Given the description of an element on the screen output the (x, y) to click on. 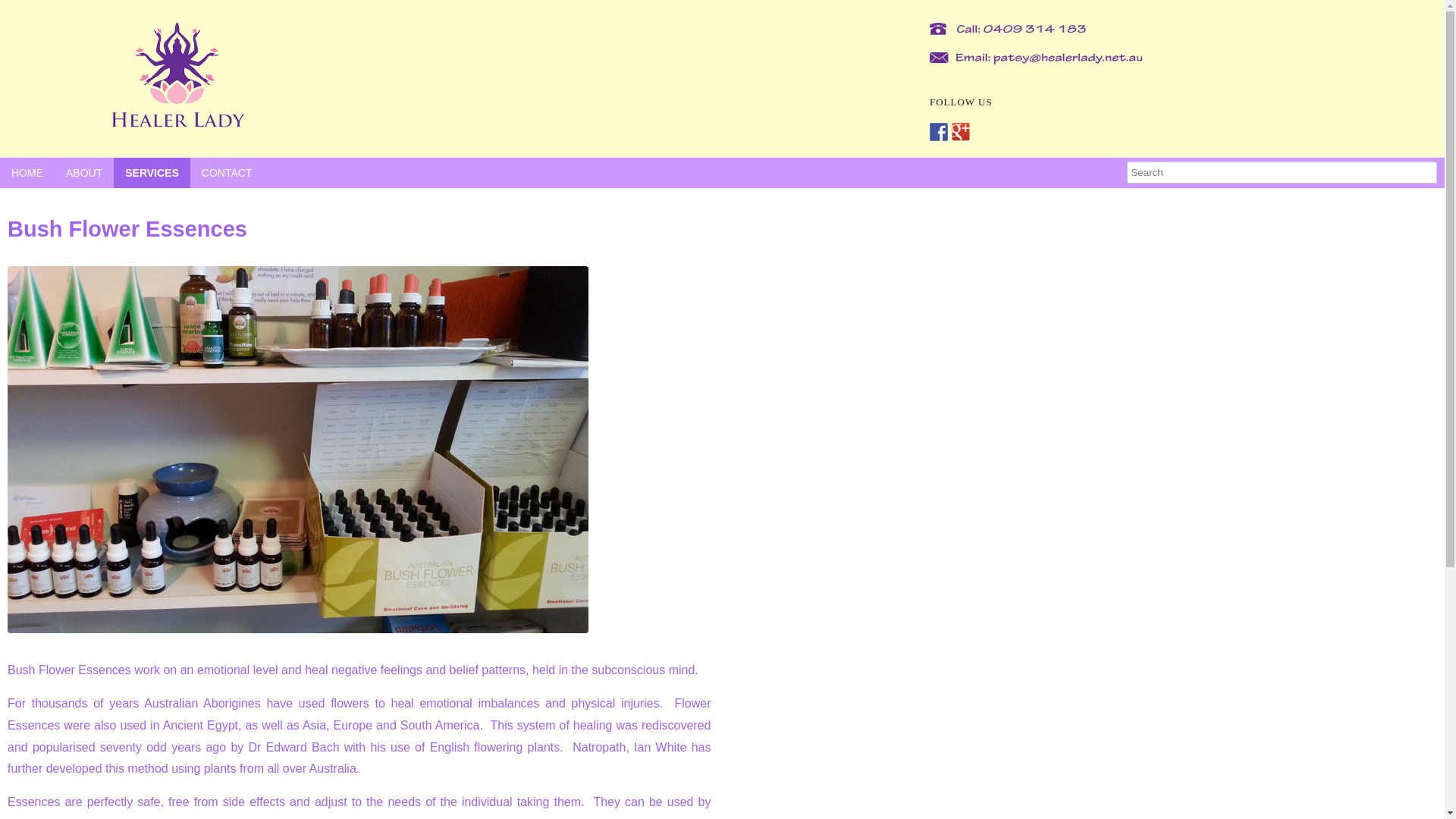
Search Element type: text (23, 10)
Follow us on Facebook Element type: hover (938, 131)
Email Element type: hover (1032, 58)
Bush Flower Essences Element type: hover (297, 449)
Call Element type: hover (1003, 28)
SERVICES Element type: text (151, 172)
Follow us on Google+ Element type: hover (960, 131)
CONTACT Element type: text (226, 172)
ABOUT Element type: text (83, 172)
HOME Element type: text (27, 172)
Search Element type: text (1281, 171)
